Given the description of an element on the screen output the (x, y) to click on. 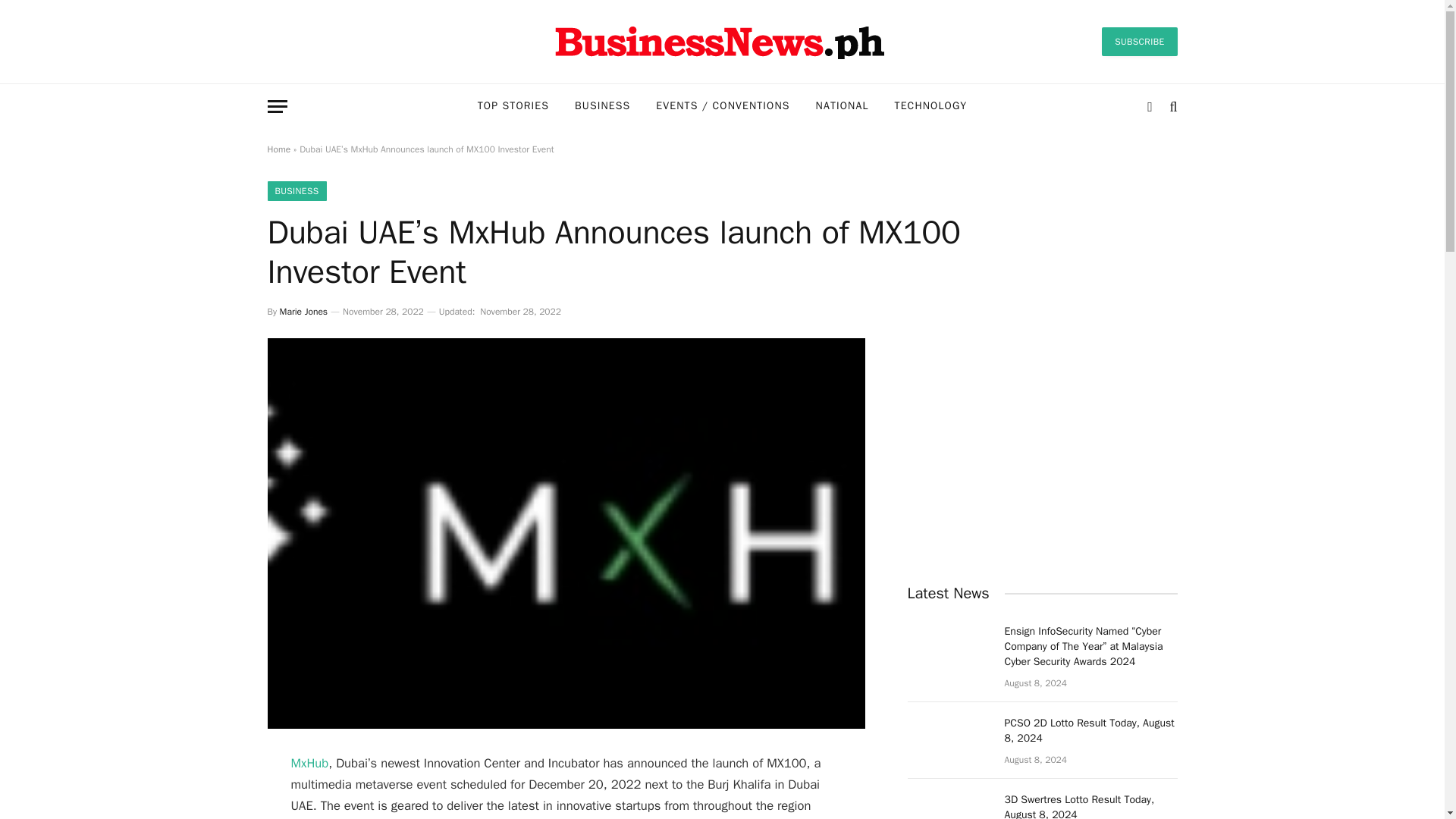
Home (277, 149)
BusinessNews.ph (721, 41)
NATIONAL (842, 106)
Switch to Dark Design - easier on eyes. (1149, 106)
Marie Jones (304, 311)
Posts by Marie Jones (304, 311)
TECHNOLOGY (930, 106)
SUBSCRIBE (1139, 41)
TOP STORIES (513, 106)
BUSINESS (602, 106)
